Given the description of an element on the screen output the (x, y) to click on. 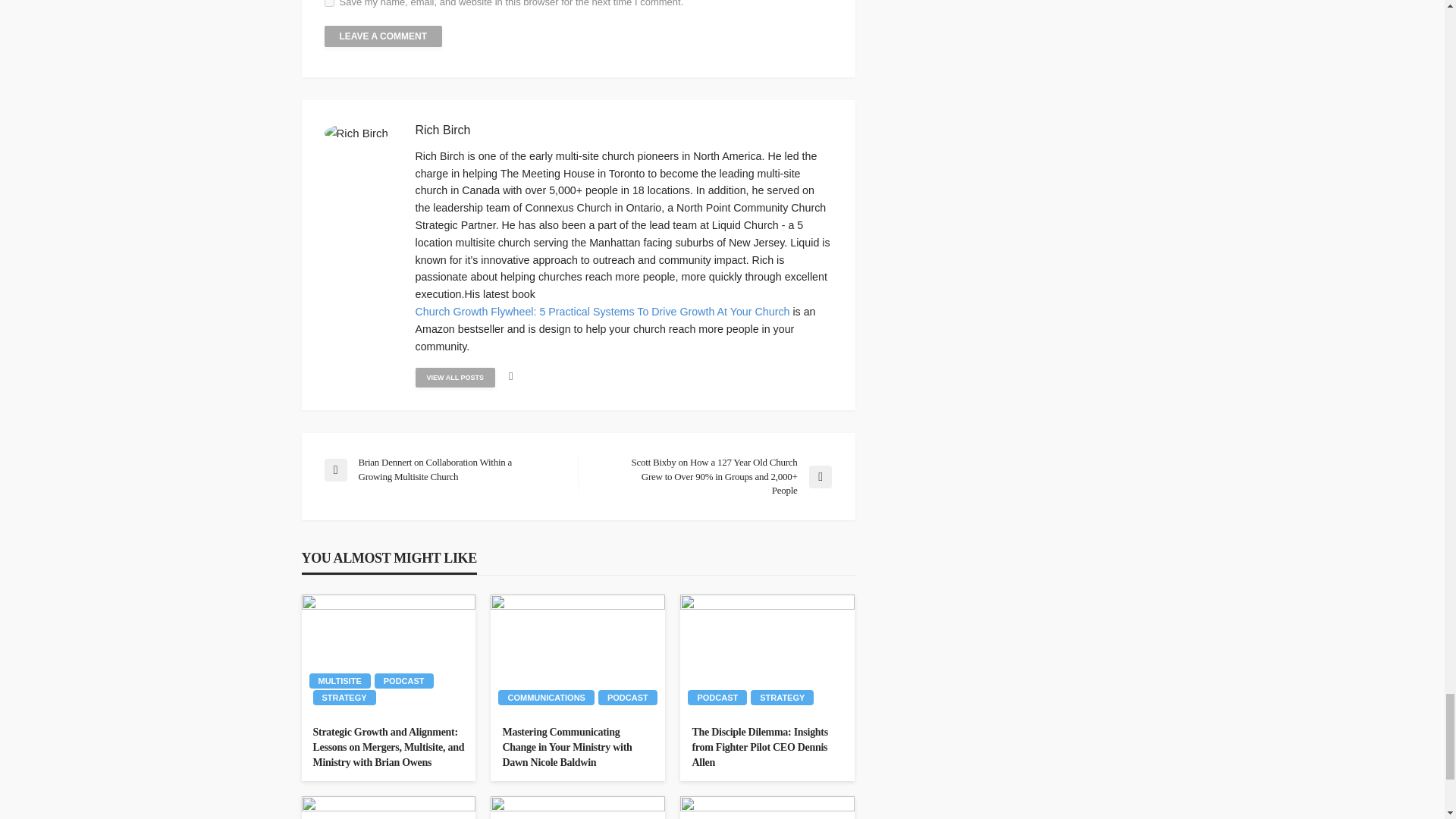
multisite (339, 680)
podcast (403, 680)
strategy (344, 697)
yes (329, 3)
Leave a comment (383, 35)
